Given the description of an element on the screen output the (x, y) to click on. 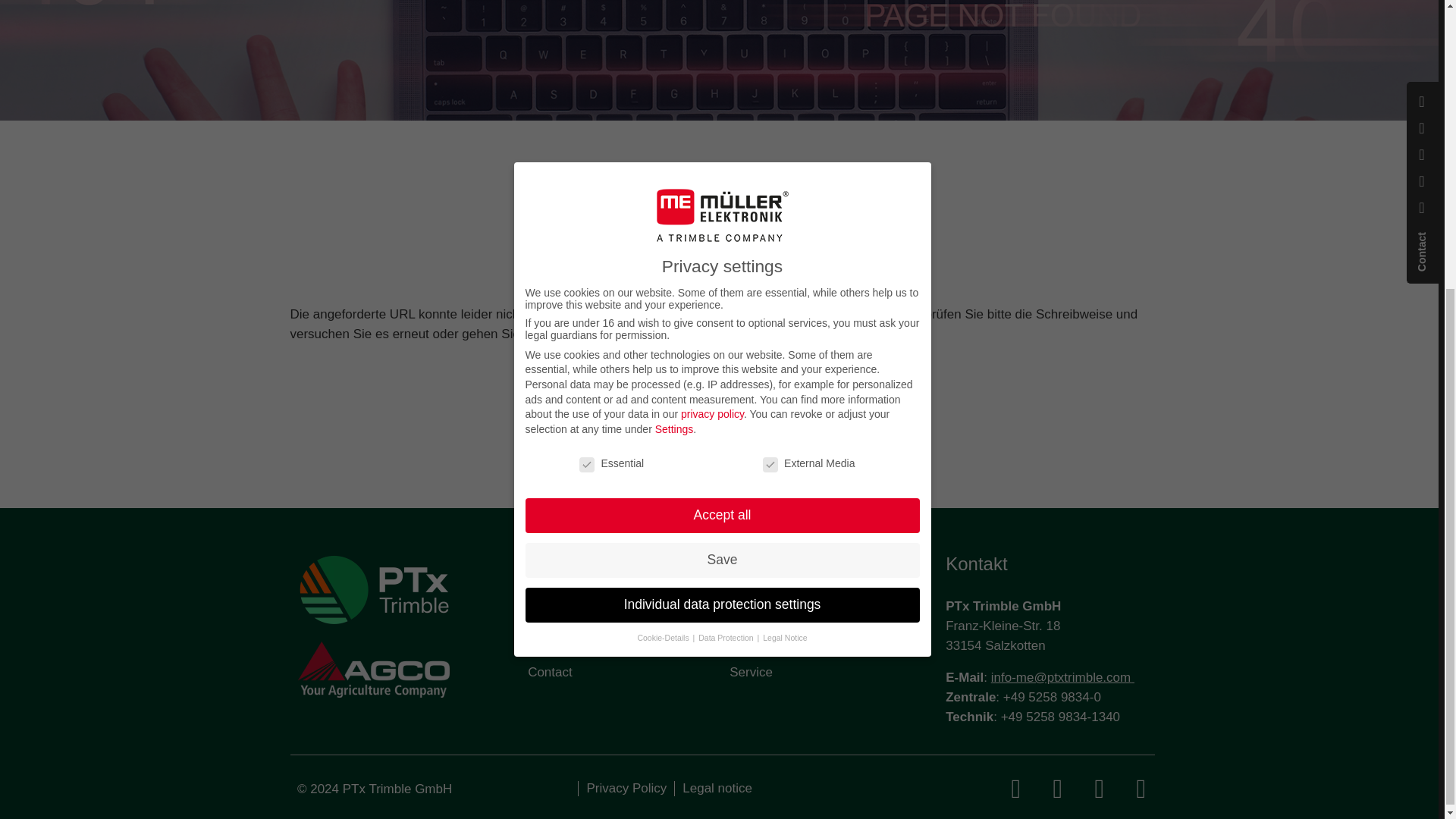
AGCO-Red-White (372, 669)
Company (620, 612)
Startseite. (574, 333)
Contact (620, 672)
OEM Services (829, 612)
